Given the description of an element on the screen output the (x, y) to click on. 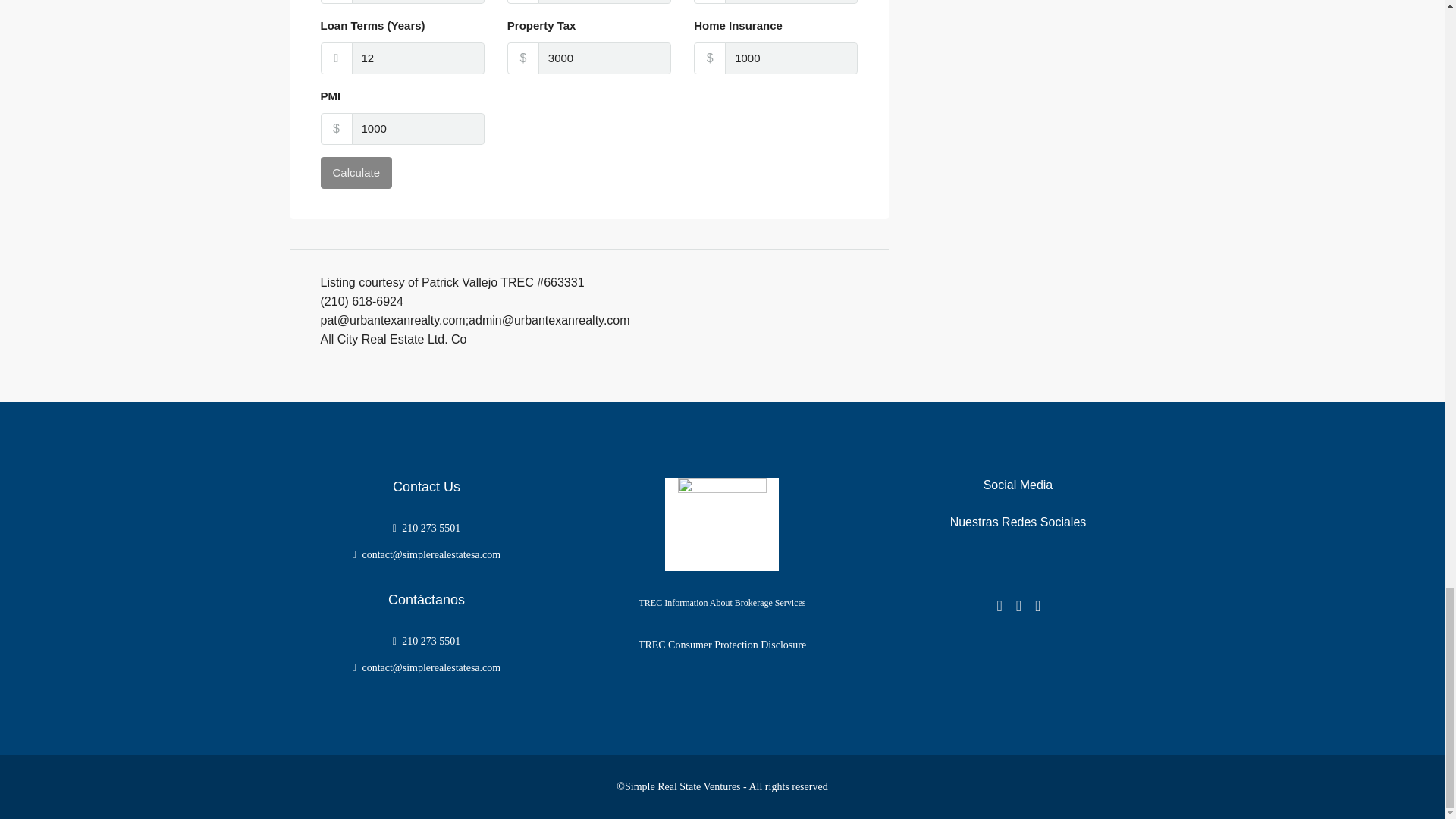
1000 (418, 128)
248700 (418, 2)
3.5 (791, 2)
37305 (604, 2)
12 (418, 58)
1000 (791, 58)
3000 (604, 58)
